Given the description of an element on the screen output the (x, y) to click on. 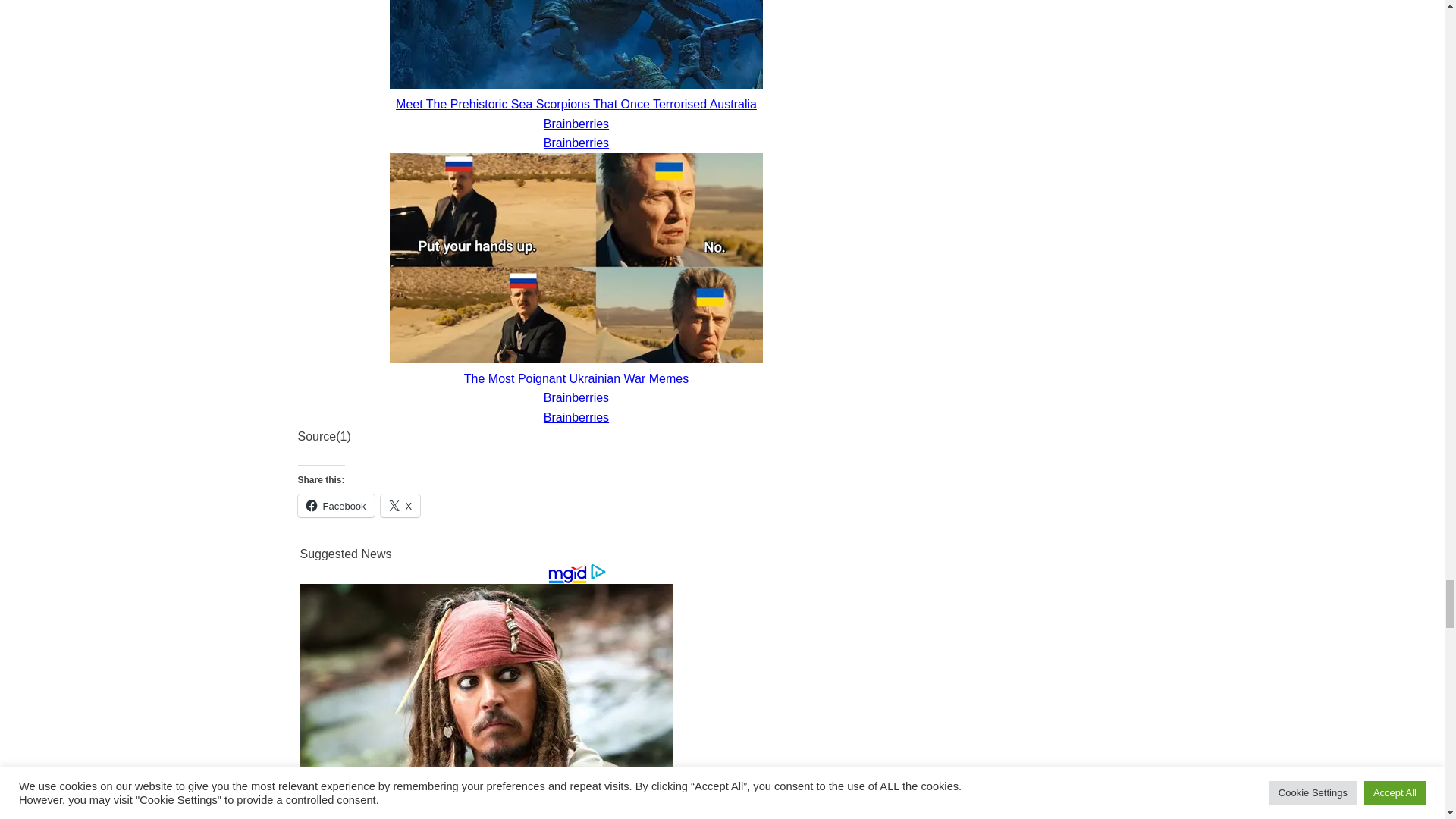
Click to share on X (400, 505)
Click to share on Facebook (335, 505)
